Given the description of an element on the screen output the (x, y) to click on. 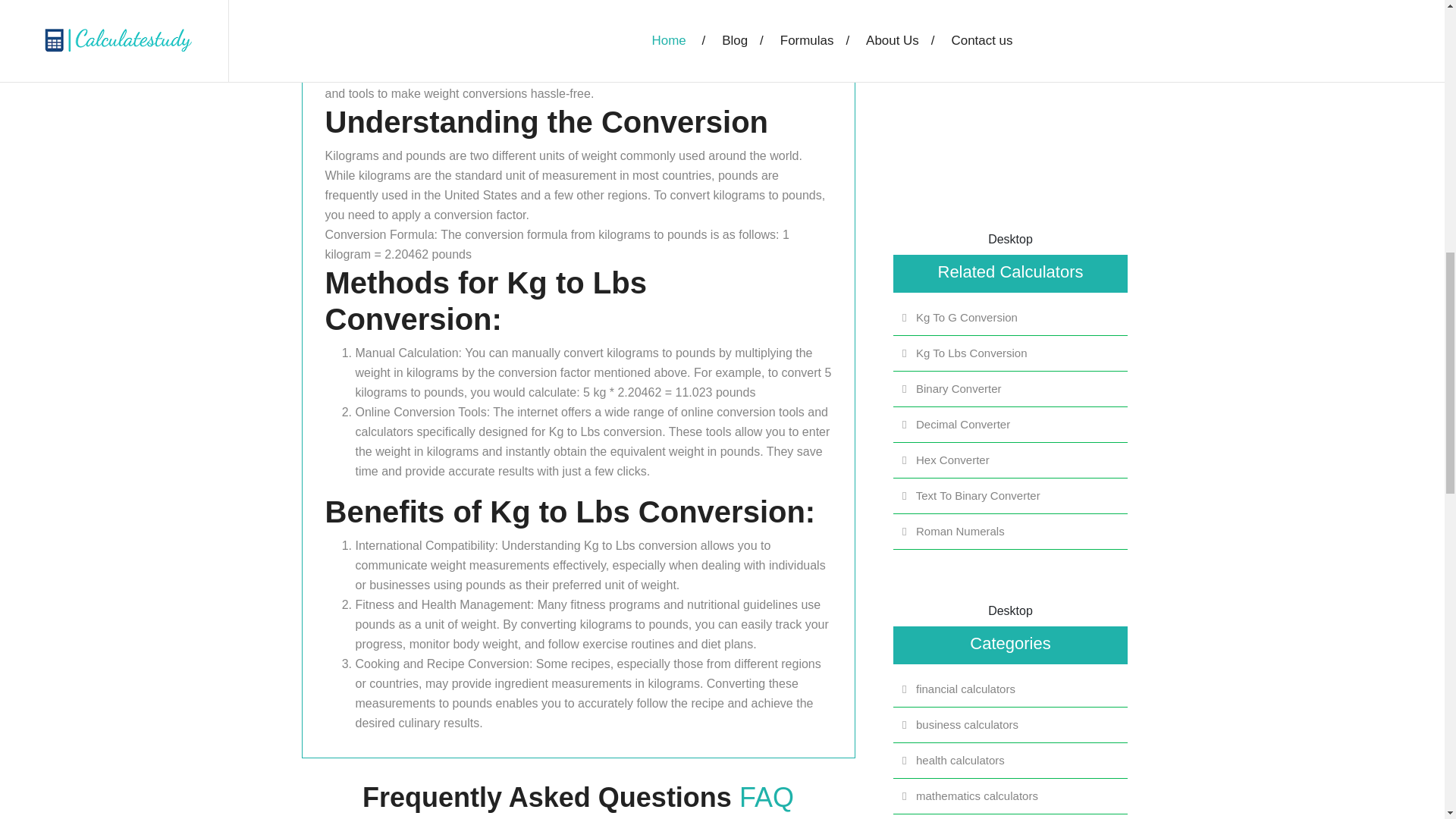
      Kg To Lbs Conversion (1010, 353)
      Text To Binary Converter (1010, 496)
      business calculators (1010, 724)
      Hex Converter (1010, 460)
      Kg To G Conversion (1010, 317)
Advertisement (1010, 112)
      Decimal Converter (1010, 424)
      mathematics calculators (1010, 795)
      Binary Converter (1010, 388)
      financial calculators (1010, 689)
      health calculators (1010, 760)
      Roman Numerals (1010, 531)
